Given the description of an element on the screen output the (x, y) to click on. 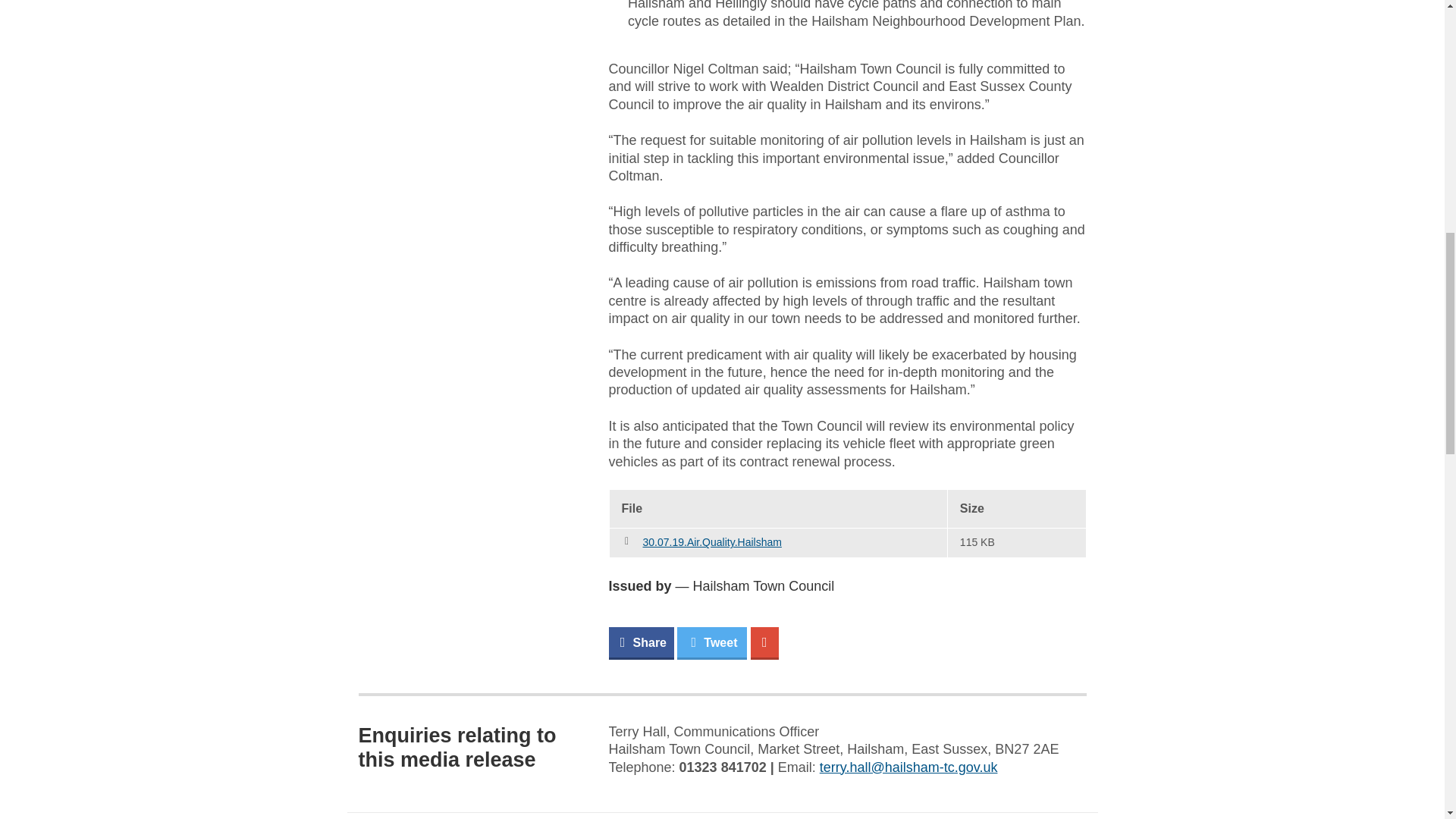
Tweet (711, 643)
Share (640, 643)
30.07.19.Air.Quality.Hailsham (712, 541)
